Given the description of an element on the screen output the (x, y) to click on. 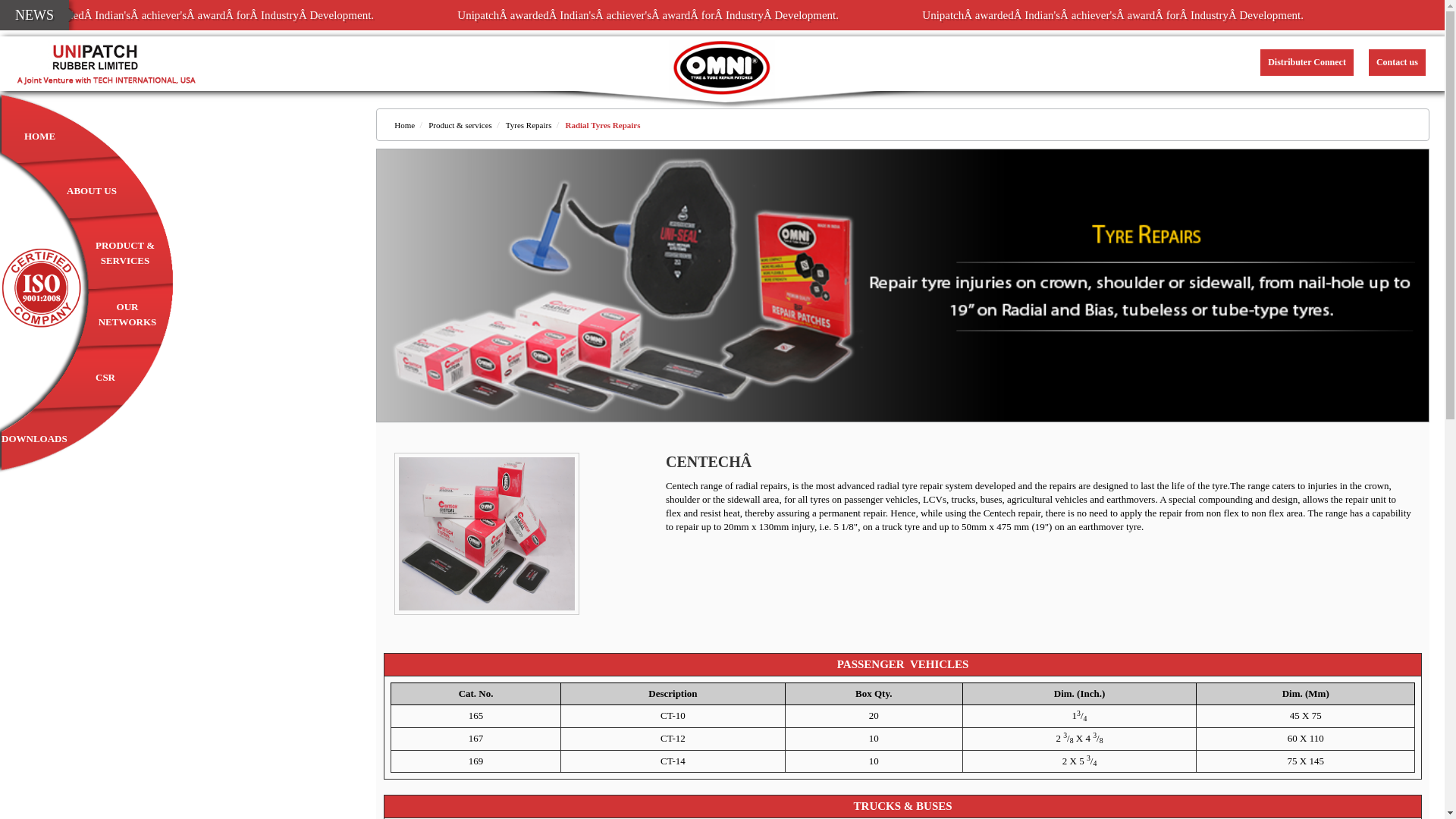
OMNI (721, 67)
ABOUT US (91, 191)
Distributer Connect (1307, 62)
Contact us (1396, 62)
HOME (39, 136)
UNIPACTH (105, 64)
